Given the description of an element on the screen output the (x, y) to click on. 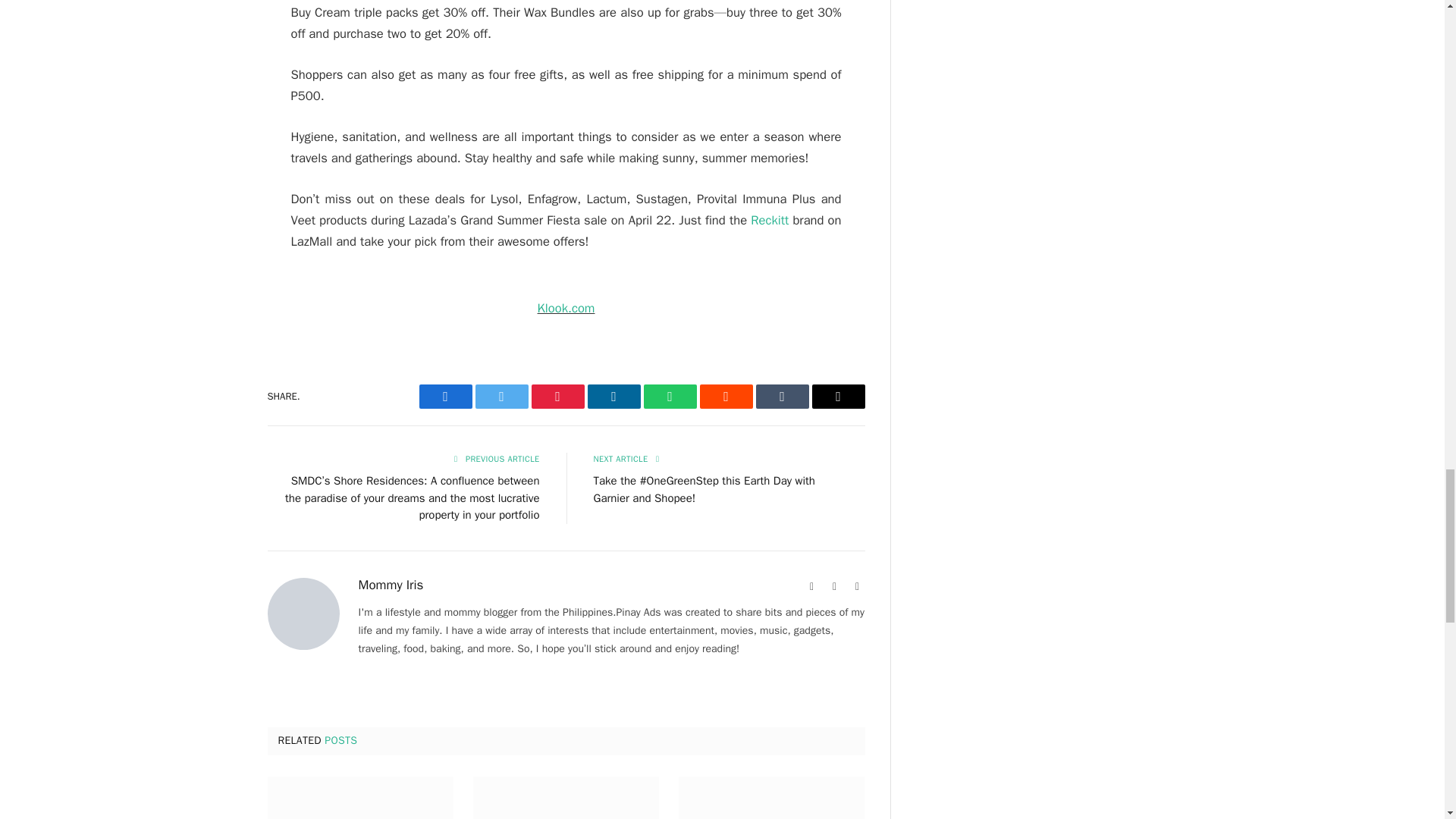
Share on Facebook (445, 396)
